Given the description of an element on the screen output the (x, y) to click on. 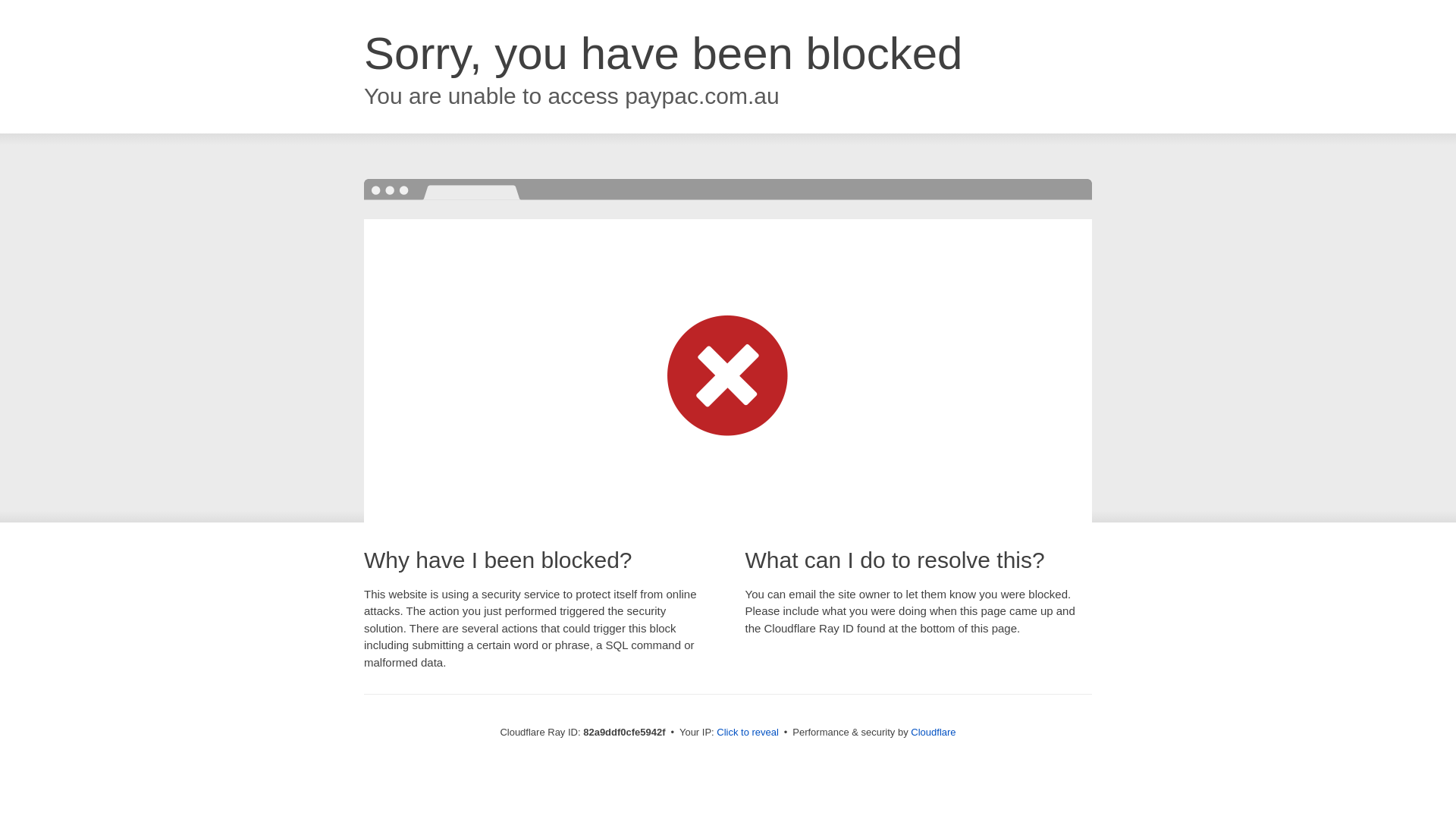
Cloudflare Element type: text (932, 731)
Click to reveal Element type: text (747, 732)
